Given the description of an element on the screen output the (x, y) to click on. 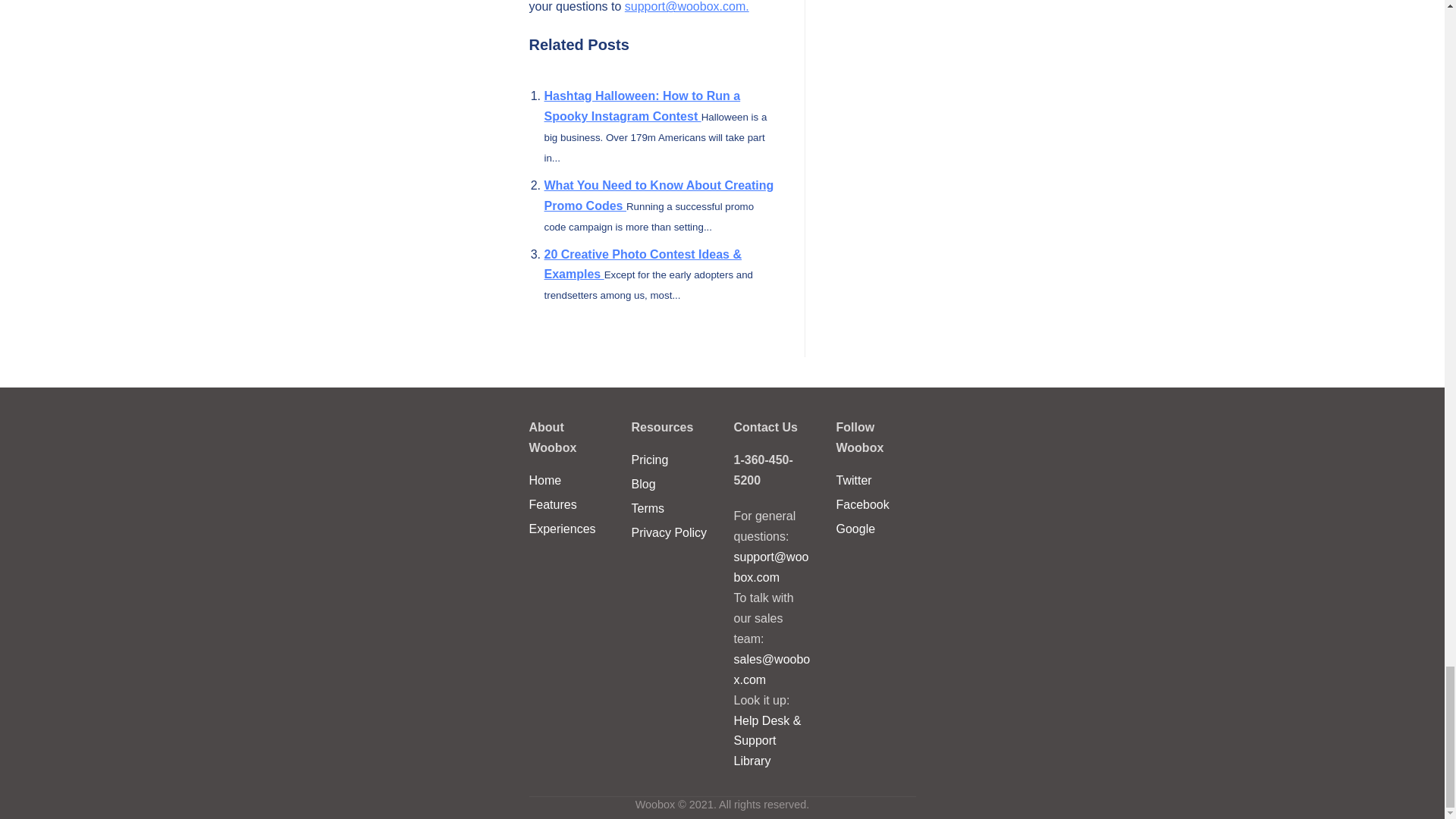
What You Need to Know About Creating Promo Codes (659, 195)
What You Need to Know About Creating Promo Codes (659, 195)
Hashtag Halloween: How to Run a Spooky Instagram Contest (642, 105)
Hashtag Halloween: How to Run a Spooky Instagram Contest (642, 105)
